Given the description of an element on the screen output the (x, y) to click on. 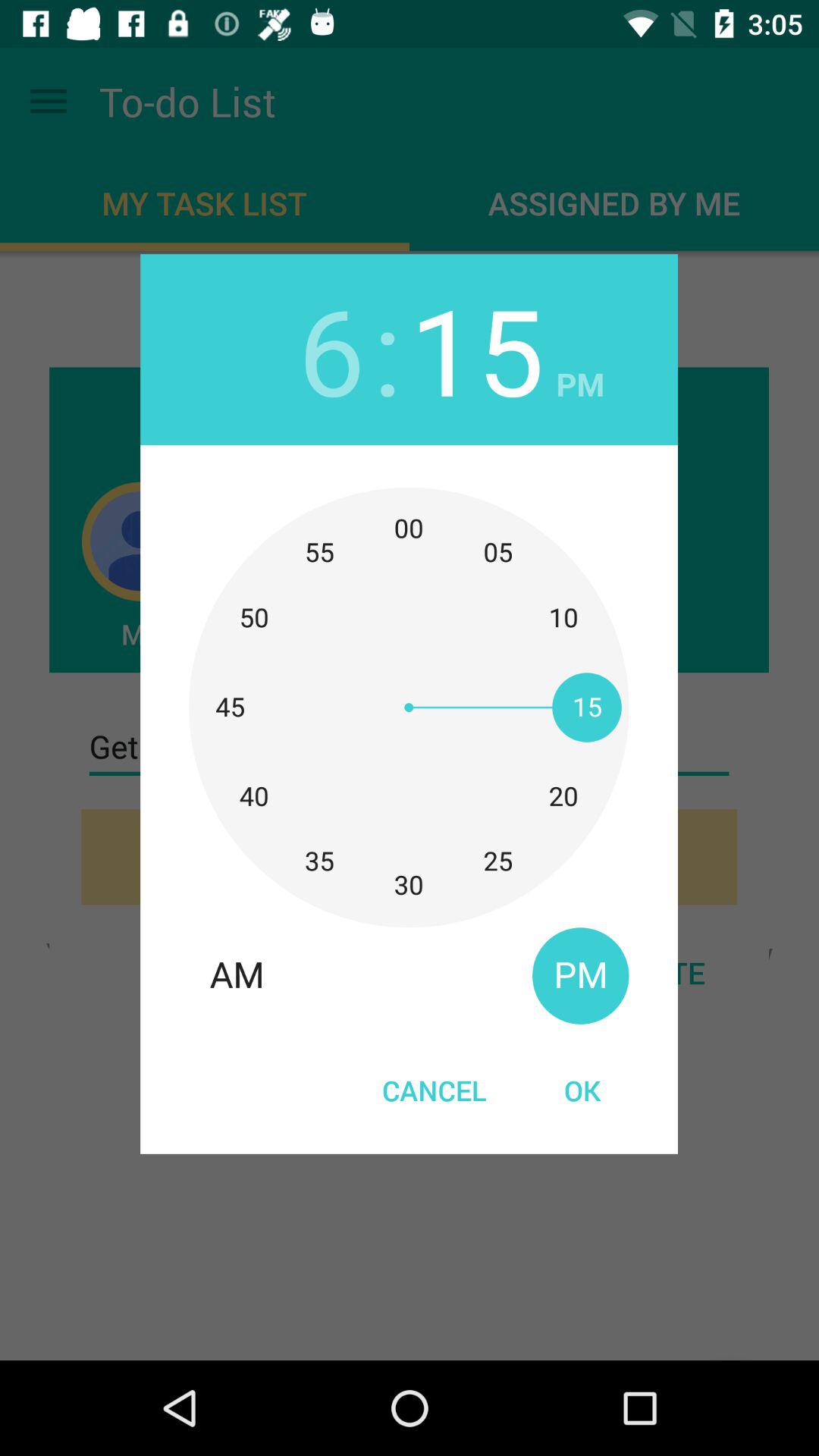
turn off item to the right of the : (477, 349)
